Given the description of an element on the screen output the (x, y) to click on. 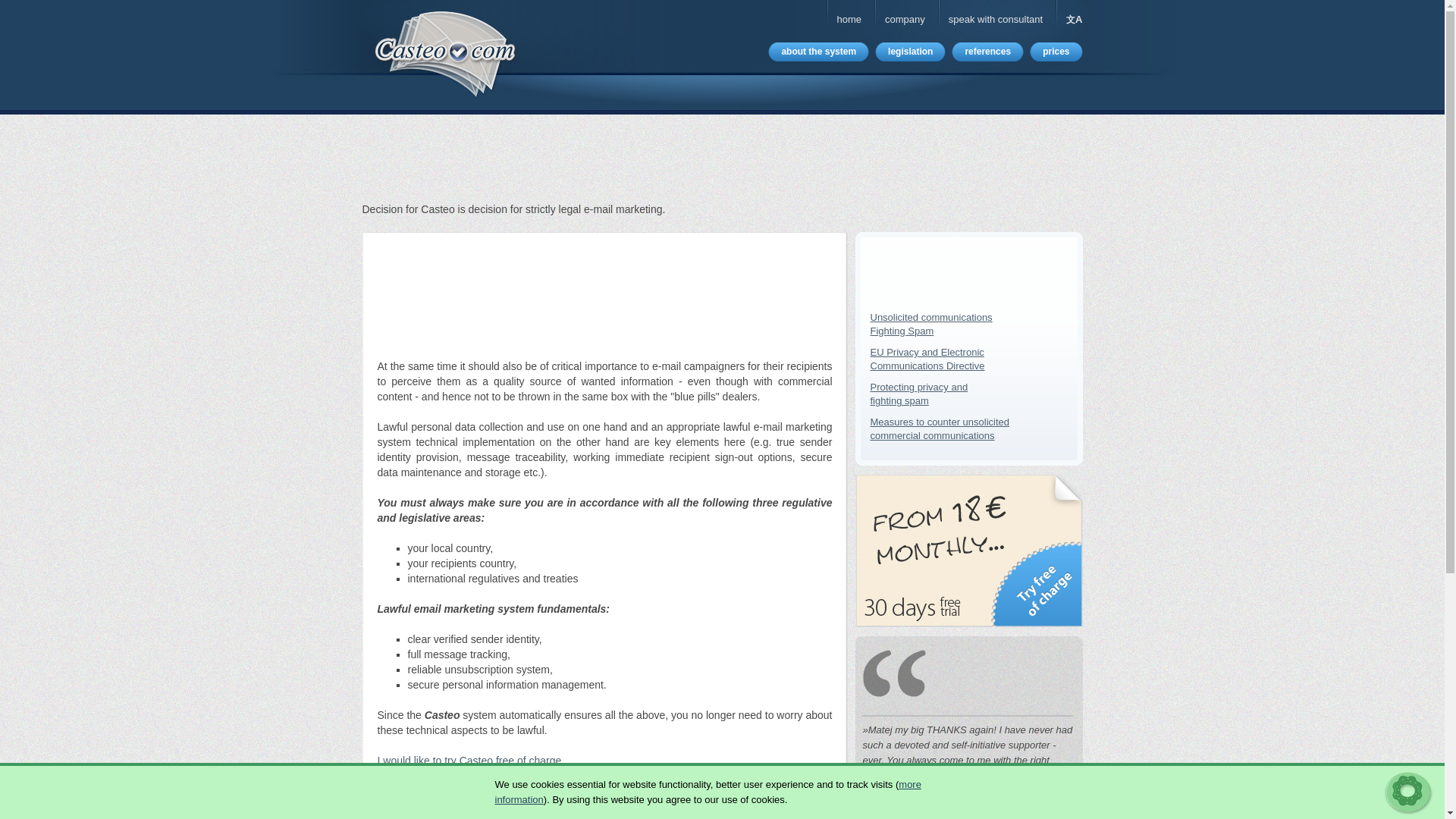
I would like to try Casteo free of charge (469, 760)
company (904, 19)
speak with consultant (995, 19)
home (849, 19)
